Given the description of an element on the screen output the (x, y) to click on. 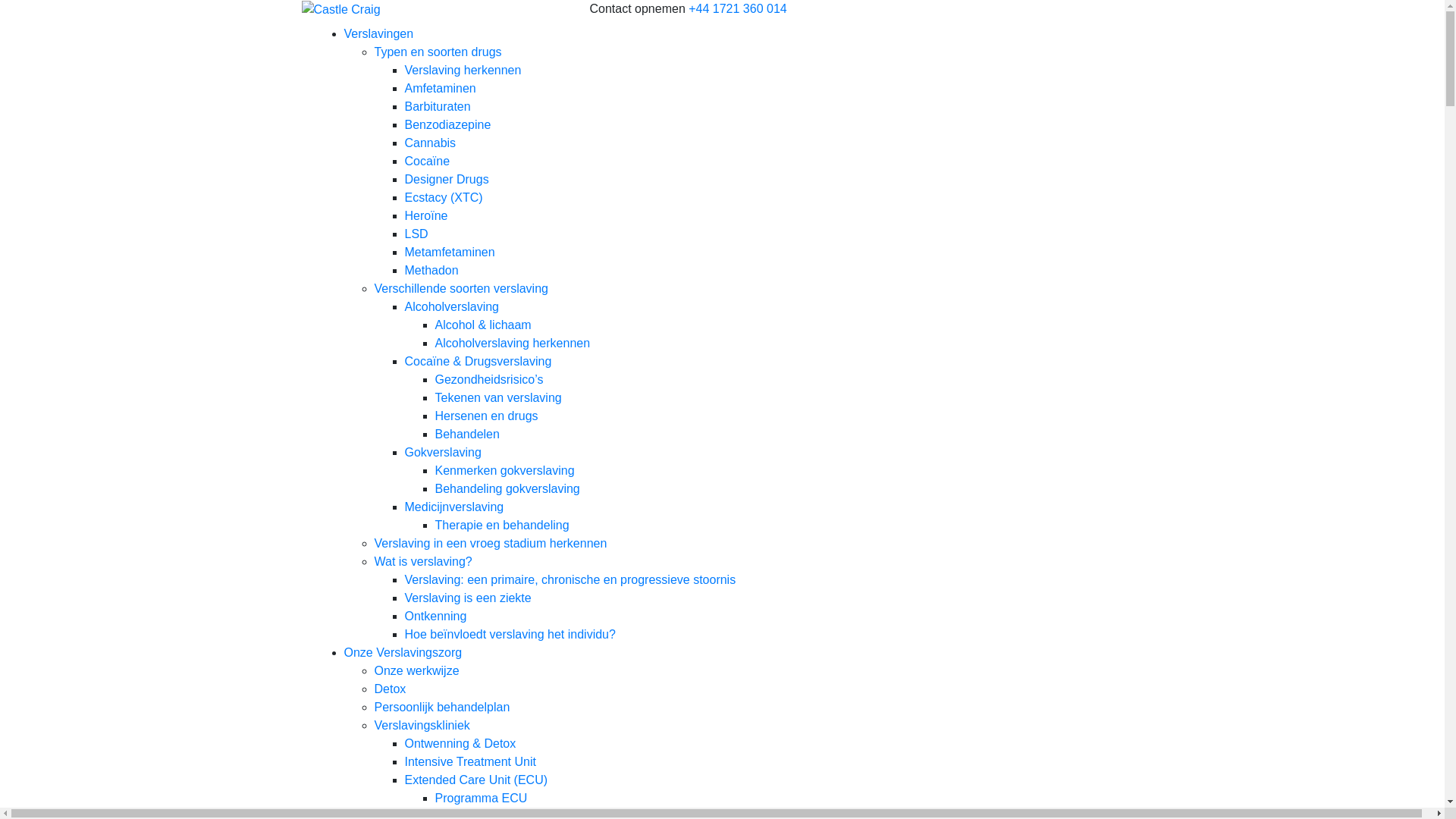
Typen en soorten drugs Element type: text (438, 51)
Kenmerken gokverslaving Element type: text (504, 470)
Detox Element type: text (390, 688)
LSD Element type: text (416, 233)
Alcoholverslaving Element type: text (451, 306)
Medicijnverslaving Element type: text (454, 506)
Onze Verslavingszorg Element type: text (403, 652)
Verslaving herkennen Element type: text (462, 69)
Cannabis Element type: text (430, 142)
Ecstacy (XTC) Element type: text (443, 197)
Hersenen en drugs Element type: text (486, 415)
Programma ECU Element type: text (481, 797)
Behandelen Element type: text (467, 433)
Verslaving in een vroeg stadium herkennen Element type: text (490, 542)
Verslaving is een ziekte Element type: text (467, 597)
Benzodiazepine Element type: text (447, 124)
Alcohol & lichaam Element type: text (483, 324)
Wat is verslaving? Element type: text (423, 561)
Metamfetaminen Element type: text (449, 251)
Therapie en behandeling Element type: text (502, 524)
Tekenen van verslaving Element type: text (498, 397)
Ontkenning Element type: text (435, 615)
Alcoholverslaving herkennen Element type: text (512, 342)
Behandeling gokverslaving Element type: text (507, 488)
Onze werkwijze Element type: text (416, 670)
Verslavingen Element type: text (379, 33)
Barbituraten Element type: text (437, 106)
Intensive Treatment Unit Element type: text (470, 761)
Methadon Element type: text (431, 269)
Verslavingskliniek Element type: text (422, 724)
Amfetaminen Element type: text (440, 87)
Verschillende soorten verslaving Element type: text (461, 288)
Extended Care Unit (ECU) Element type: text (476, 779)
Gokverslaving Element type: text (442, 451)
Ontwenning & Detox Element type: text (460, 743)
+44 1721 360 014 Element type: text (737, 8)
Persoonlijk behandelplan Element type: text (442, 706)
Designer Drugs Element type: text (446, 178)
